Given the description of an element on the screen output the (x, y) to click on. 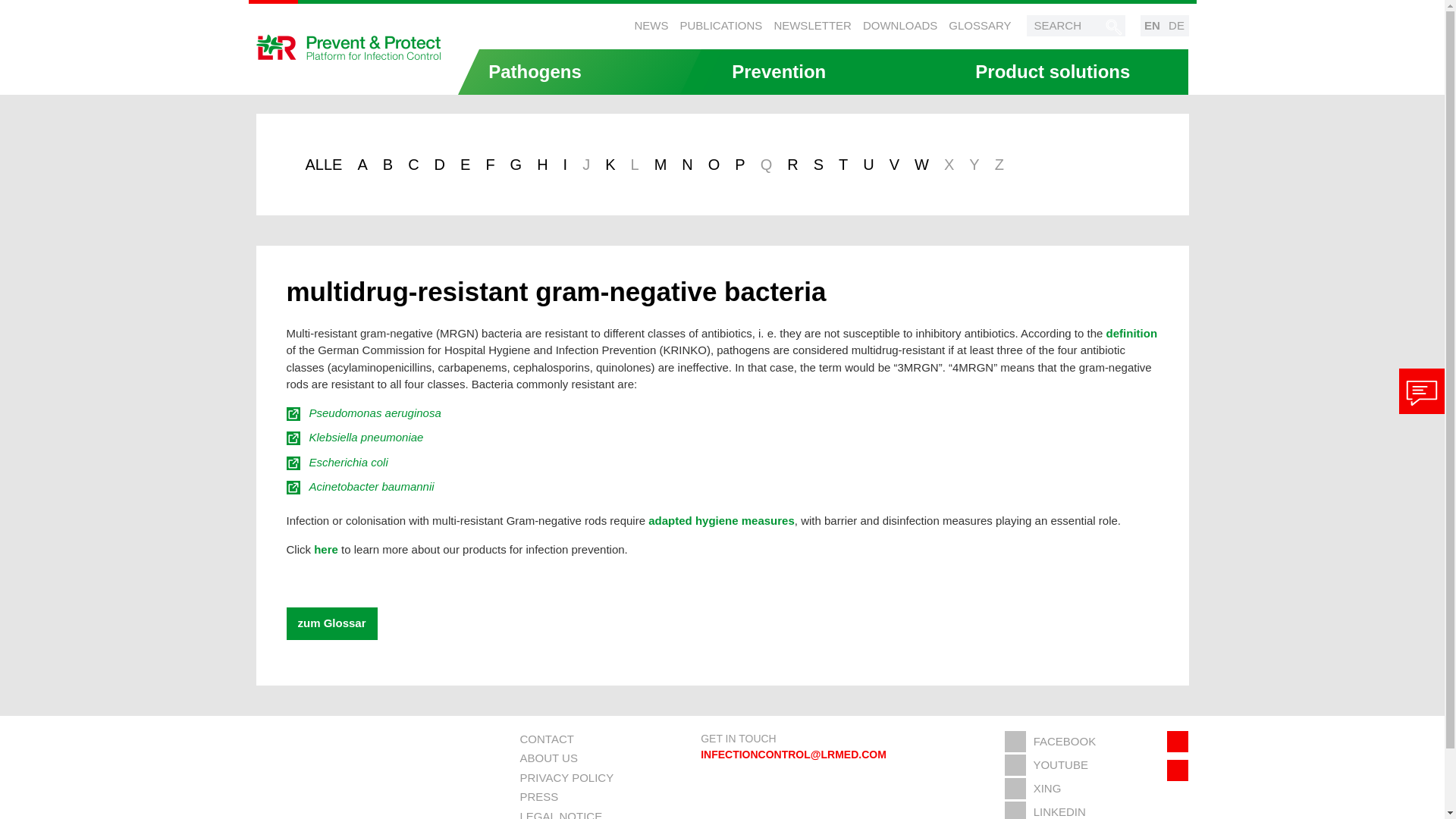
ALLE (323, 164)
NEWS (650, 24)
Prevention (822, 72)
LR Prevent Protect (349, 46)
GLOSSARY (979, 24)
EN (1152, 25)
PUBLICATIONS (720, 24)
DOWNLOADS (900, 24)
Product solutions (1066, 72)
NEWSLETTER (812, 24)
DE (1176, 25)
Pathogens (579, 72)
